Given the description of an element on the screen output the (x, y) to click on. 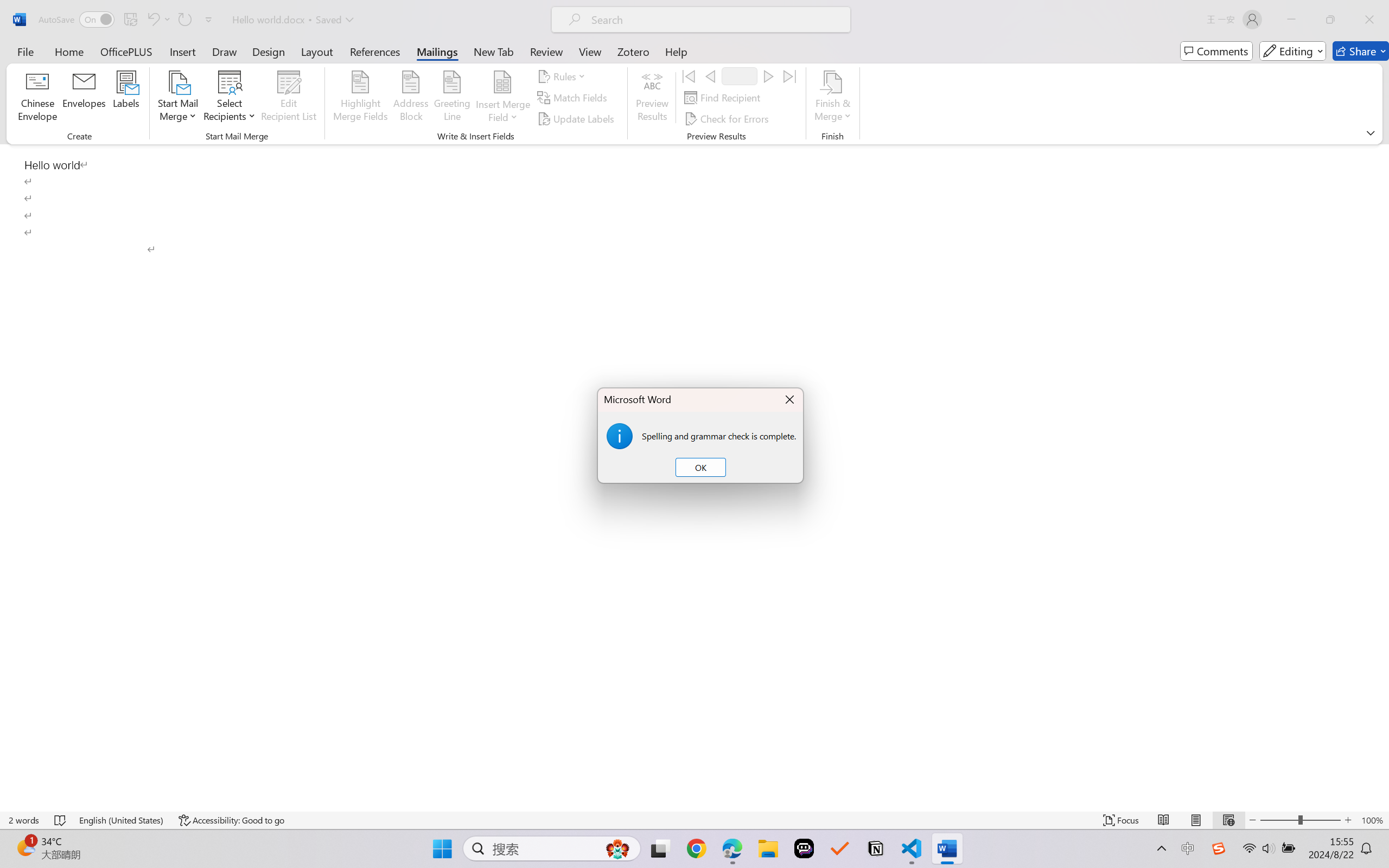
Class: MsoCommandBar (694, 72)
AutoSave (76, 19)
New Tab (493, 51)
Customize Quick Access Toolbar (208, 19)
Zoom Out (1278, 819)
Design (268, 51)
Notion (875, 848)
Draw (224, 51)
Select Recipients (229, 97)
Labels... (126, 97)
Insert Merge Field (502, 81)
Rules (563, 75)
More Options (502, 112)
